Given the description of an element on the screen output the (x, y) to click on. 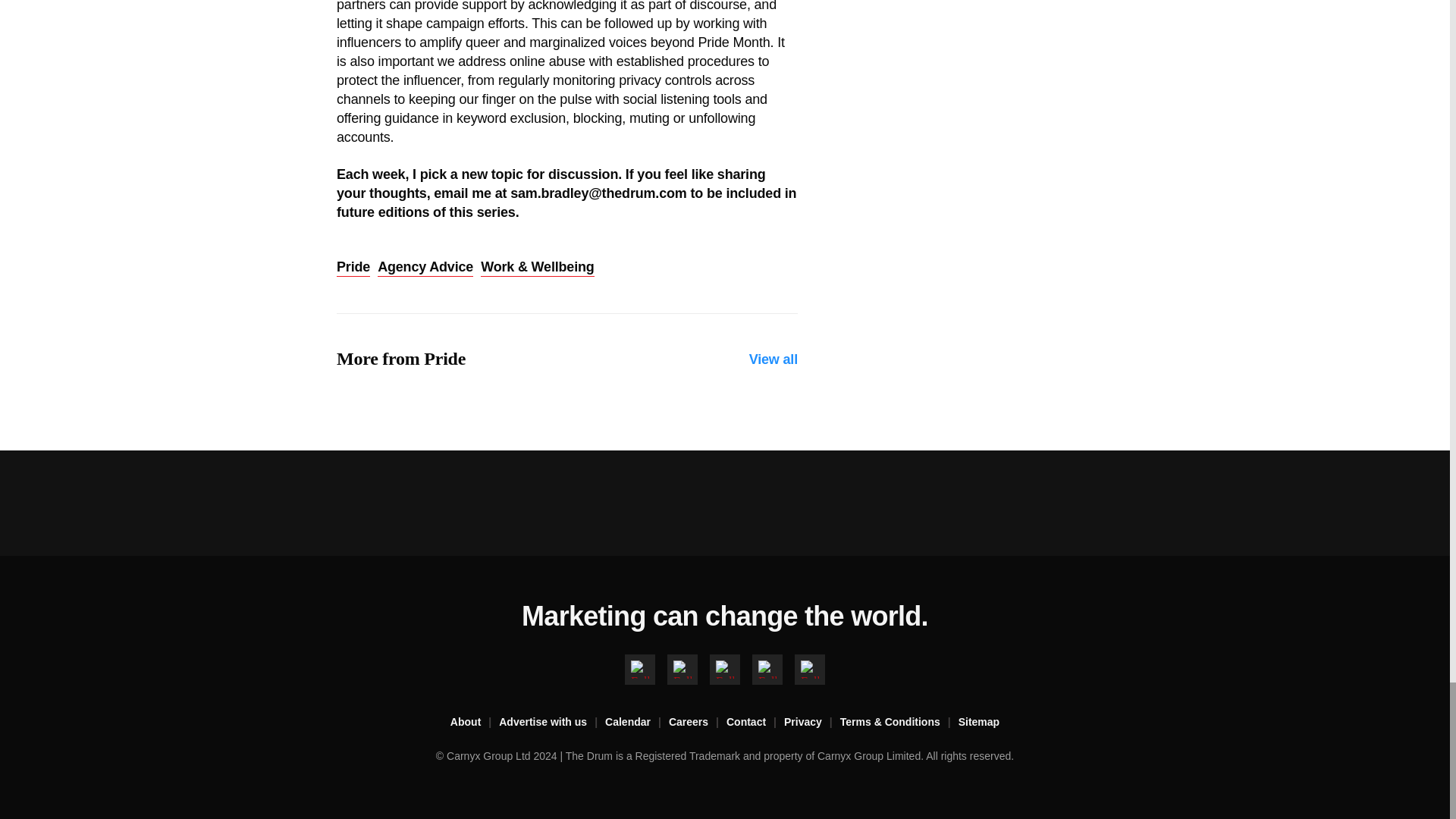
View all (773, 359)
About (474, 722)
Contact (755, 722)
Pride (352, 267)
Agency Advice (425, 267)
Careers (697, 722)
Calendar (636, 722)
Advertise with us (552, 722)
